Given the description of an element on the screen output the (x, y) to click on. 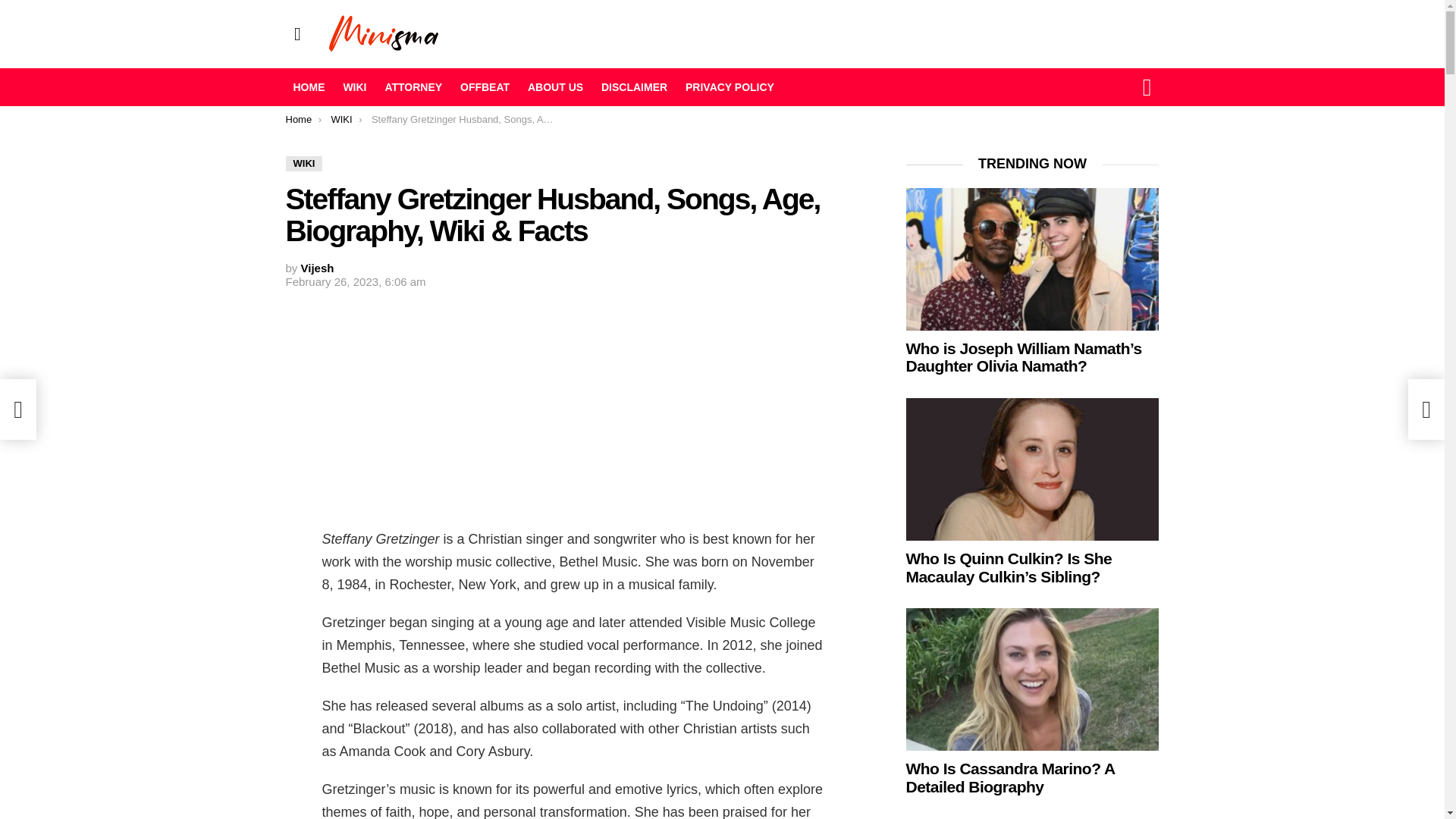
WIKI (303, 163)
WIKI (341, 119)
DISCLAIMER (634, 87)
OFFBEAT (484, 87)
Menu (296, 33)
ABOUT US (555, 87)
Posts by Vijesh (317, 267)
ATTORNEY (413, 87)
WIKI (354, 87)
Home (298, 119)
HOME (308, 87)
Advertisement (572, 405)
PRIVACY POLICY (729, 87)
Vijesh (317, 267)
